Given the description of an element on the screen output the (x, y) to click on. 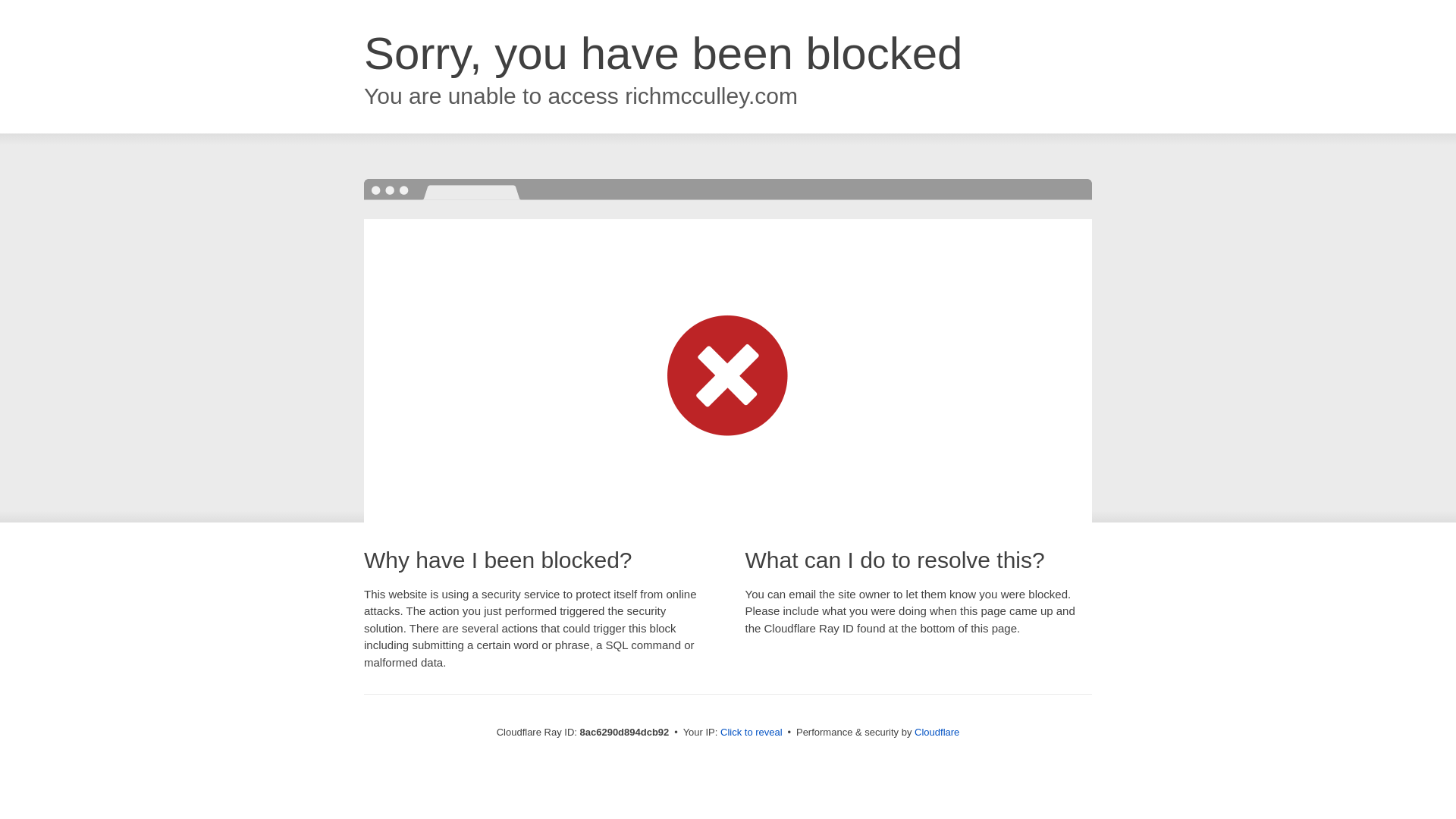
Click to reveal (751, 732)
Cloudflare (936, 731)
